Given the description of an element on the screen output the (x, y) to click on. 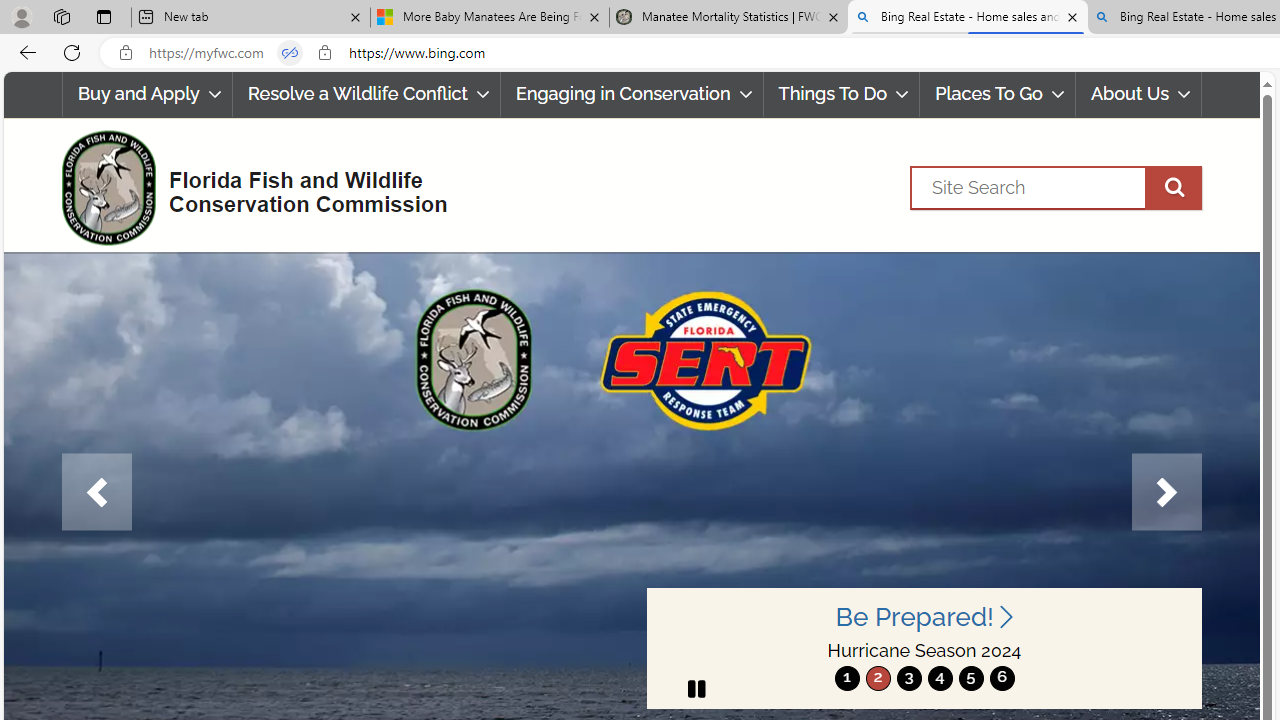
Manatee Mortality Statistics | FWC (729, 17)
Resolve a Wildlife Conflict (365, 94)
5 (970, 678)
Previous (96, 491)
move to slide 3 (908, 678)
move to slide 2 (877, 678)
4 (939, 678)
Buy and Apply (146, 94)
Places To Go (998, 94)
